Given the description of an element on the screen output the (x, y) to click on. 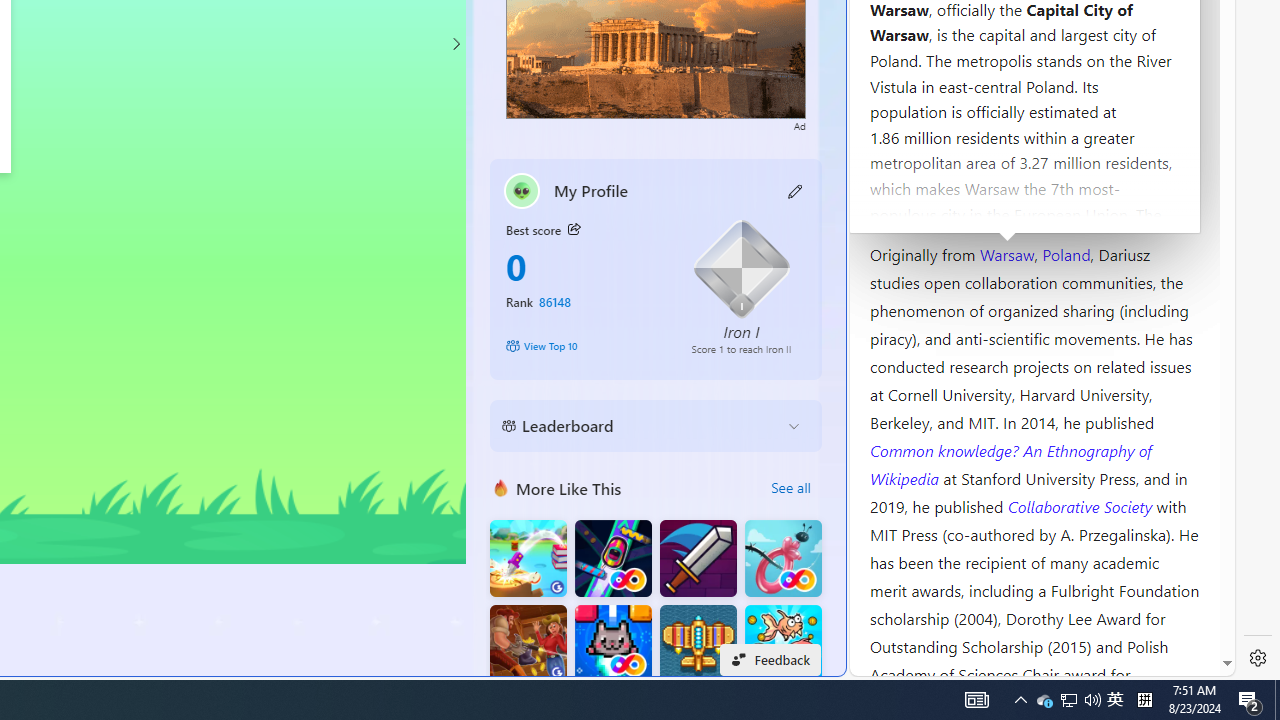
Bumper Car FRVR (612, 558)
See all (790, 487)
Global web icon (888, 663)
Poland (1065, 253)
Kitten Force FRVR (612, 643)
Dungeon Master Knight (698, 558)
More Like This (501, 487)
Kozminski University (1034, 136)
Balloon FRVR (783, 558)
